Given the description of an element on the screen output the (x, y) to click on. 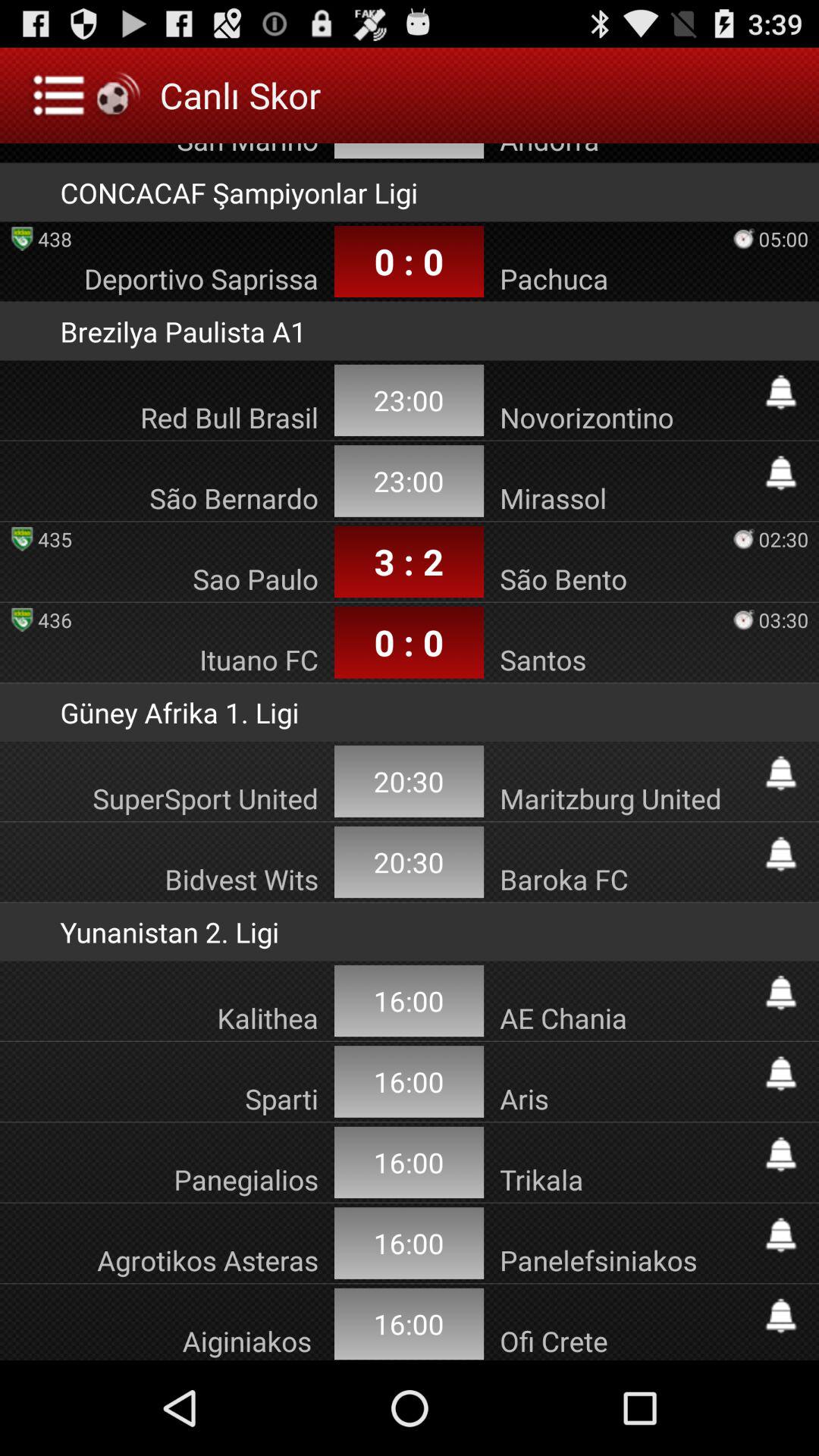
notify on match (780, 1154)
